Given the description of an element on the screen output the (x, y) to click on. 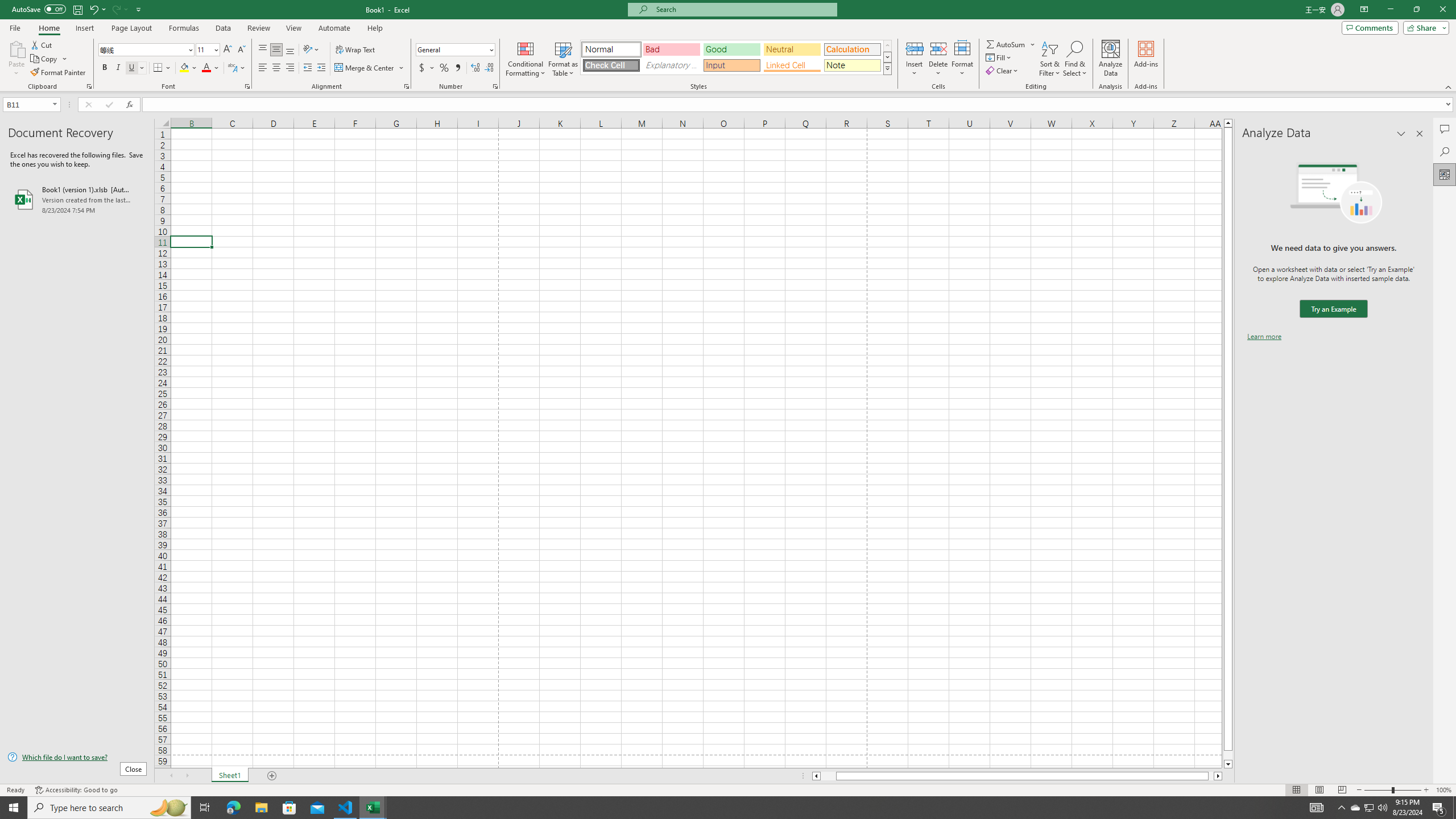
AutoSum (1011, 44)
Comma Style (457, 67)
Explanatory Text (671, 65)
Format Cell Number (494, 85)
Merge & Center (365, 67)
Number Format (451, 49)
Office Clipboard... (88, 85)
Copy (45, 58)
Analyze Data (1444, 173)
